Given the description of an element on the screen output the (x, y) to click on. 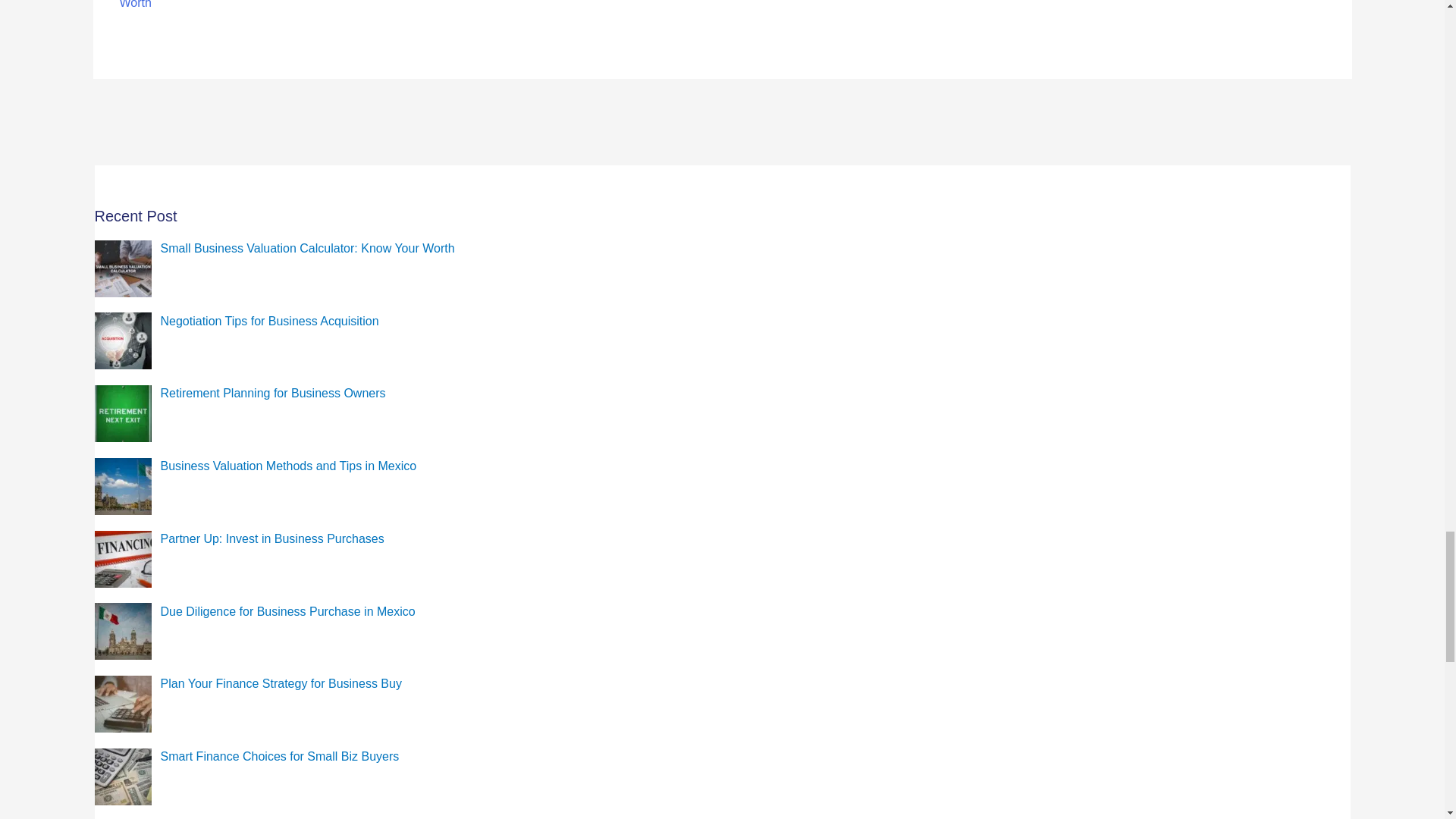
Small Business Valuation Calculator: Know Your Worth (307, 247)
Business Valuation Methods and Tips in Mexico (288, 465)
Negotiation Tips for Business Acquisition (269, 319)
Retirement Planning for Business Owners (272, 392)
Small Business Valuation Calculator: Know Your Worth (194, 4)
Smart Finance Choices for Small Biz Buyers (279, 756)
Due Diligence for Business Purchase in Mexico (287, 611)
Plan Your Finance Strategy for Business Buy (280, 683)
Partner Up: Invest in Business Purchases (272, 538)
